Given the description of an element on the screen output the (x, y) to click on. 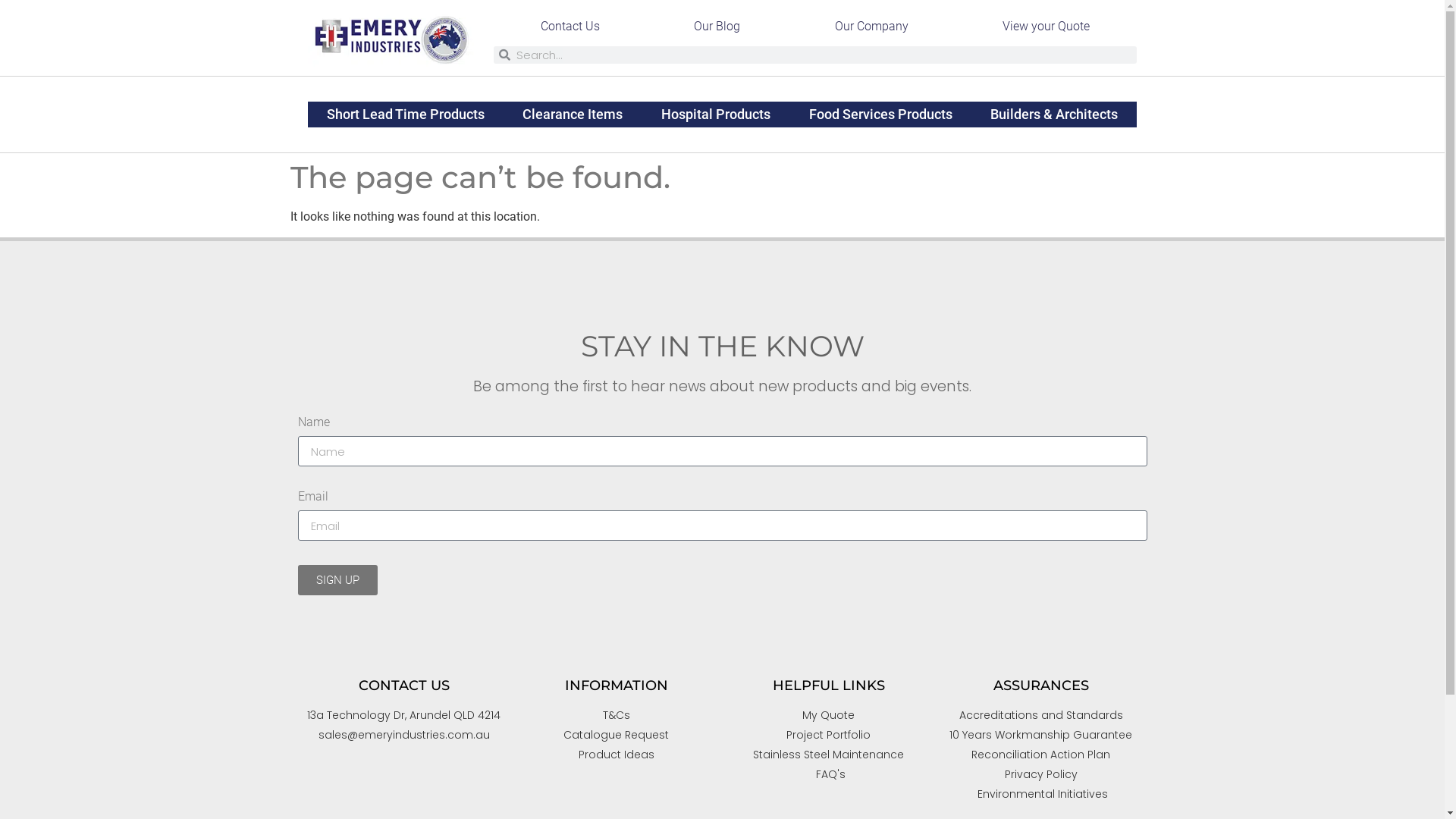
Privacy Policy Element type: text (1040, 774)
SIGN UP Element type: text (336, 579)
Clearance Items Element type: text (572, 114)
Hospital Products Element type: text (716, 114)
Short Lead Time Products Element type: text (405, 114)
Reconciliation Action Plan Element type: text (1040, 754)
Stainless Steel Maintenance Element type: text (827, 754)
Contact Us Element type: text (569, 26)
FAQ's Element type: text (827, 774)
T&Cs Element type: text (615, 715)
Builders & Architects Element type: text (1054, 114)
Environmental Initiatives Element type: text (1040, 794)
CONTACT US Element type: text (402, 685)
Catalogue Request Element type: text (615, 735)
Accreditations and Standards Element type: text (1040, 715)
Project Portfolio Element type: text (827, 735)
My Quote Element type: text (827, 715)
Product Ideas Element type: text (615, 754)
10 Years Workmanship Guarantee Element type: text (1040, 735)
Food Services Products Element type: text (880, 114)
Our Blog Element type: text (716, 26)
Our Company Element type: text (871, 26)
View your Quote Element type: text (1045, 26)
